Given the description of an element on the screen output the (x, y) to click on. 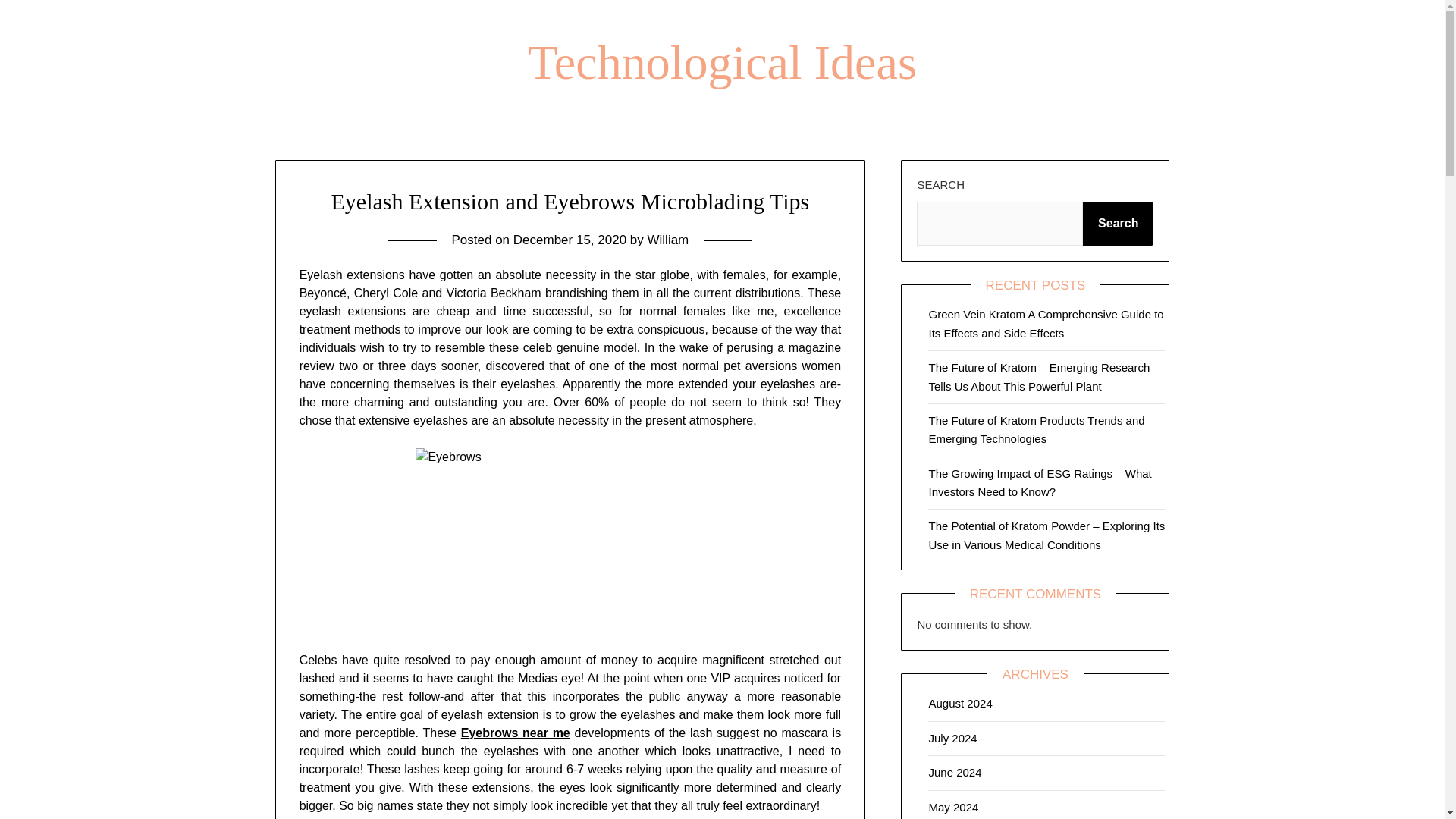
July 2024 (952, 738)
December 15, 2020 (569, 239)
May 2024 (953, 807)
Technological Ideas (722, 62)
June 2024 (954, 771)
William (667, 239)
Search (1118, 223)
Eyebrows near me (515, 732)
